Given the description of an element on the screen output the (x, y) to click on. 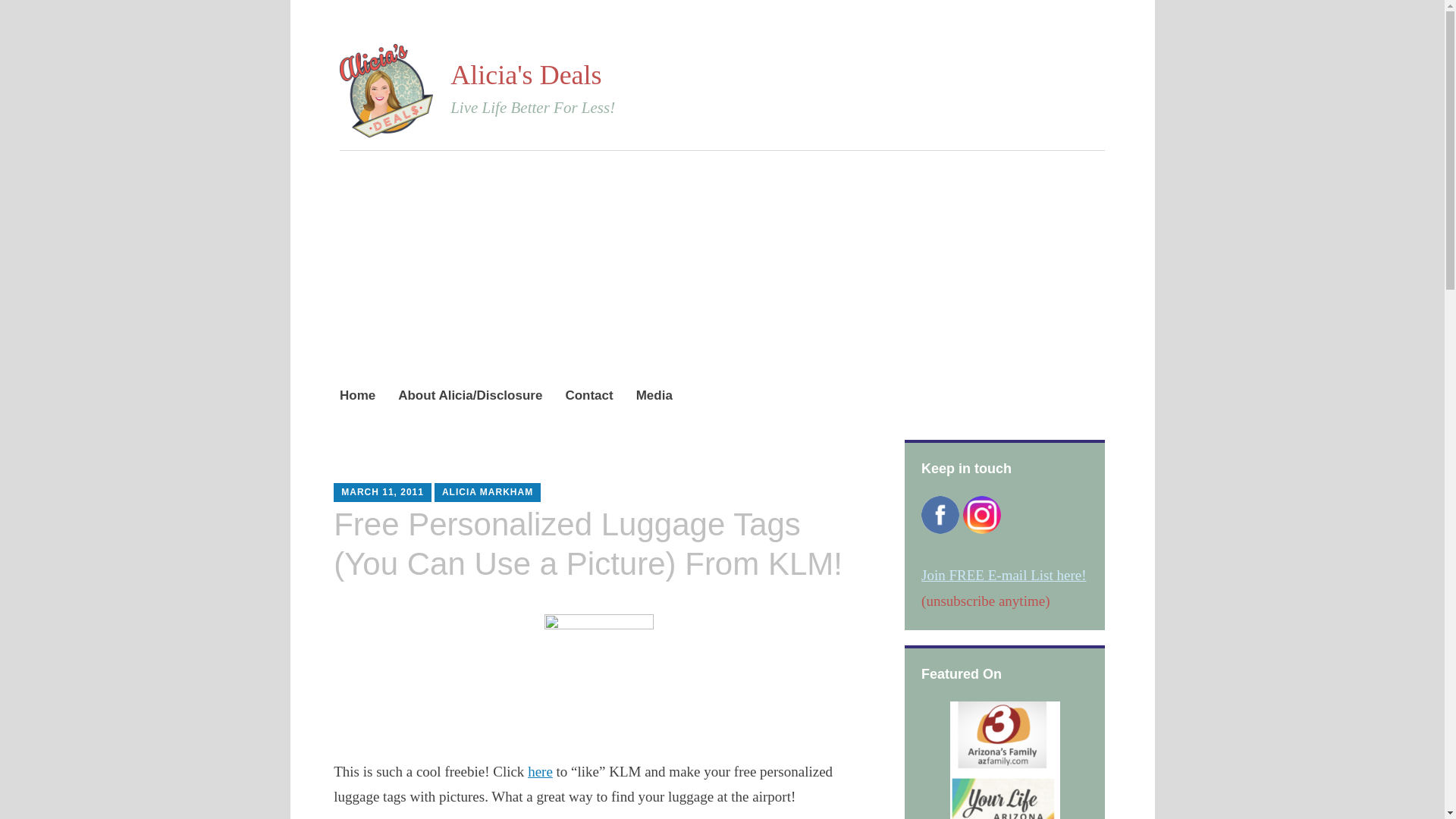
Media (654, 396)
Search (173, 17)
luggage (598, 671)
Contact (588, 396)
here (540, 771)
ALICIA MARKHAM (487, 491)
Home (357, 396)
Alicia's Deals (525, 74)
Join FREE E-mail List here! (1003, 575)
